Given the description of an element on the screen output the (x, y) to click on. 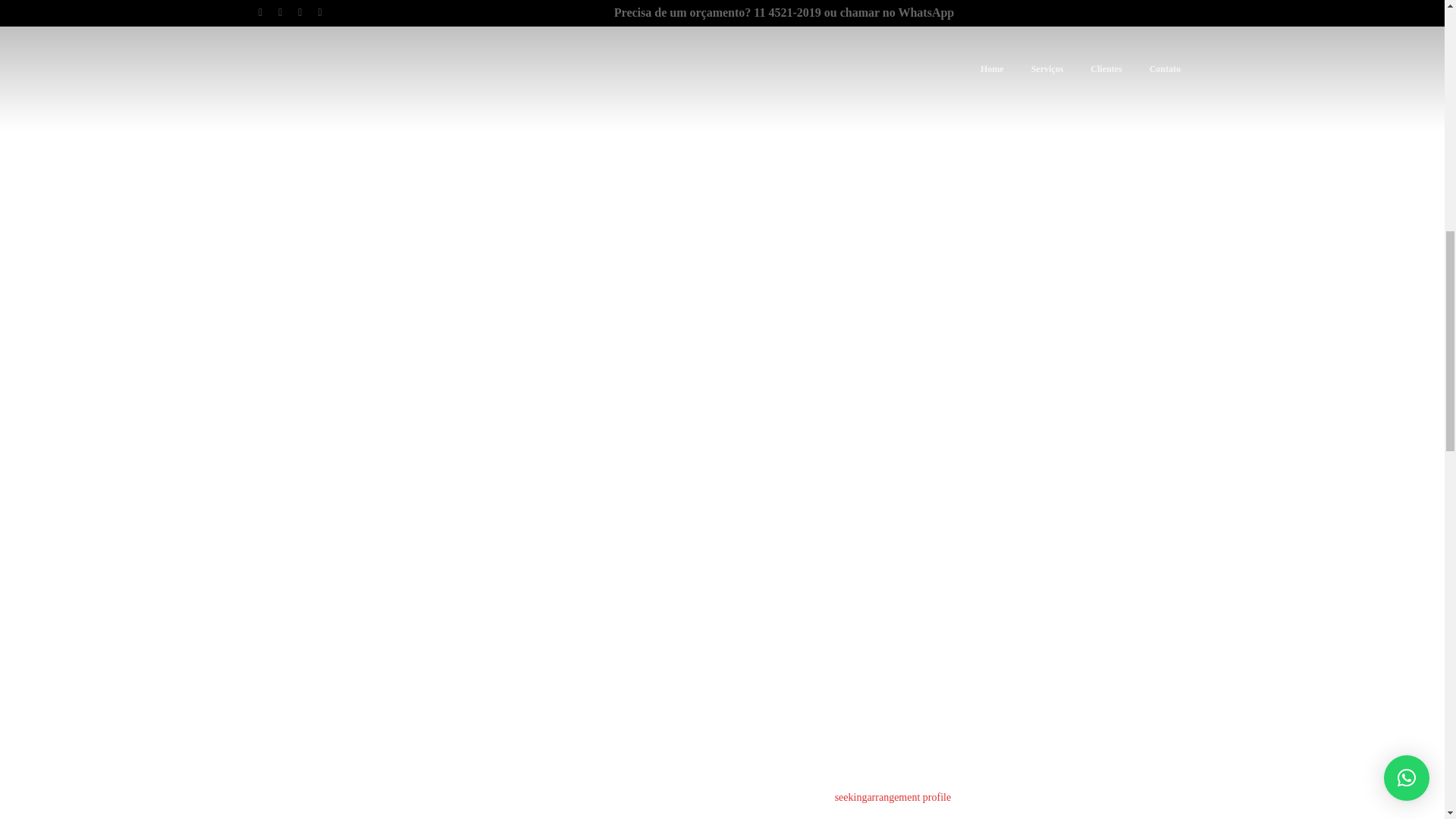
seekingarrangement profile (893, 797)
